Given the description of an element on the screen output the (x, y) to click on. 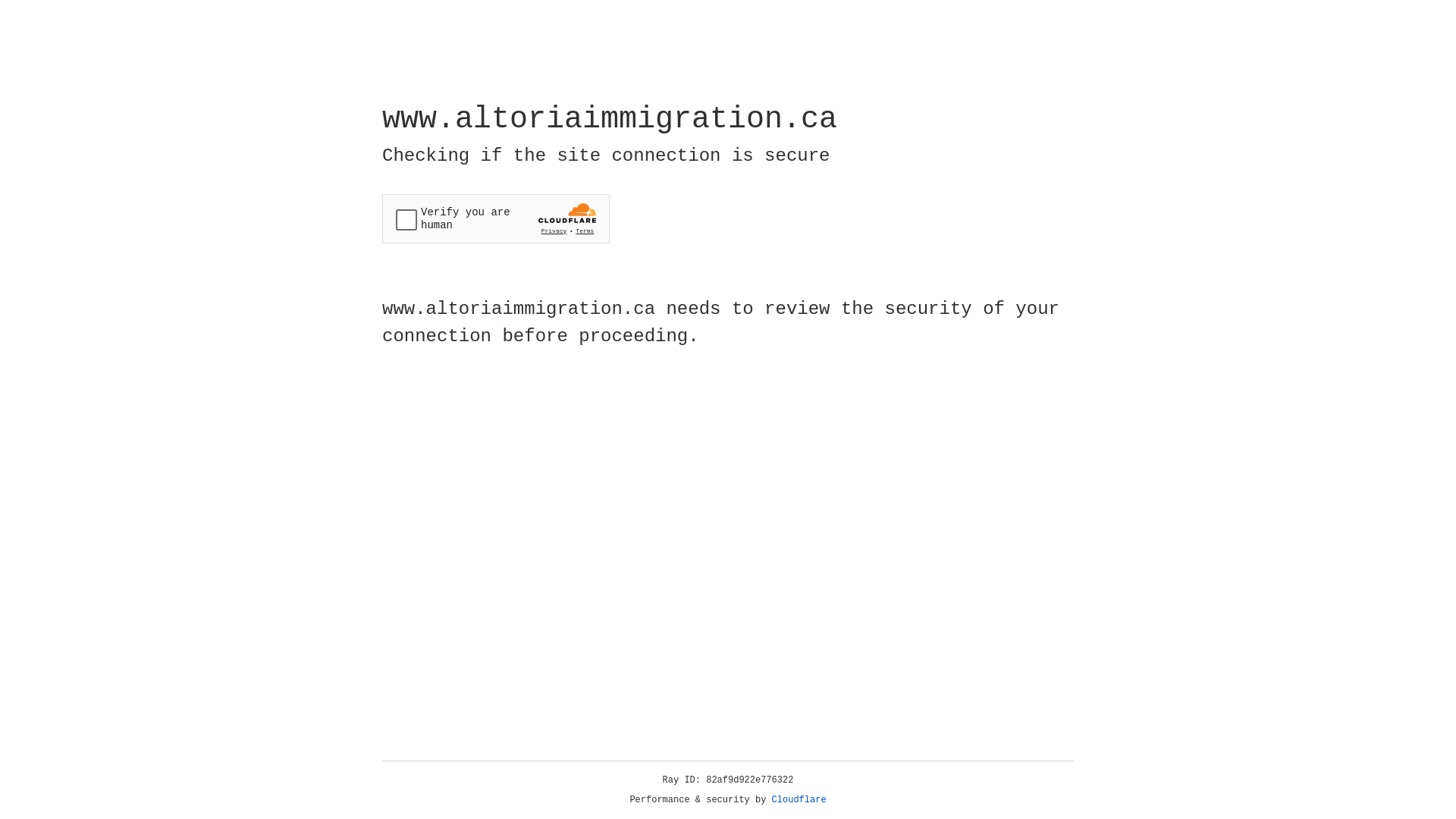
Widget containing a Cloudflare security challenge Element type: hover (495, 218)
Cloudflare Element type: text (798, 799)
